Given the description of an element on the screen output the (x, y) to click on. 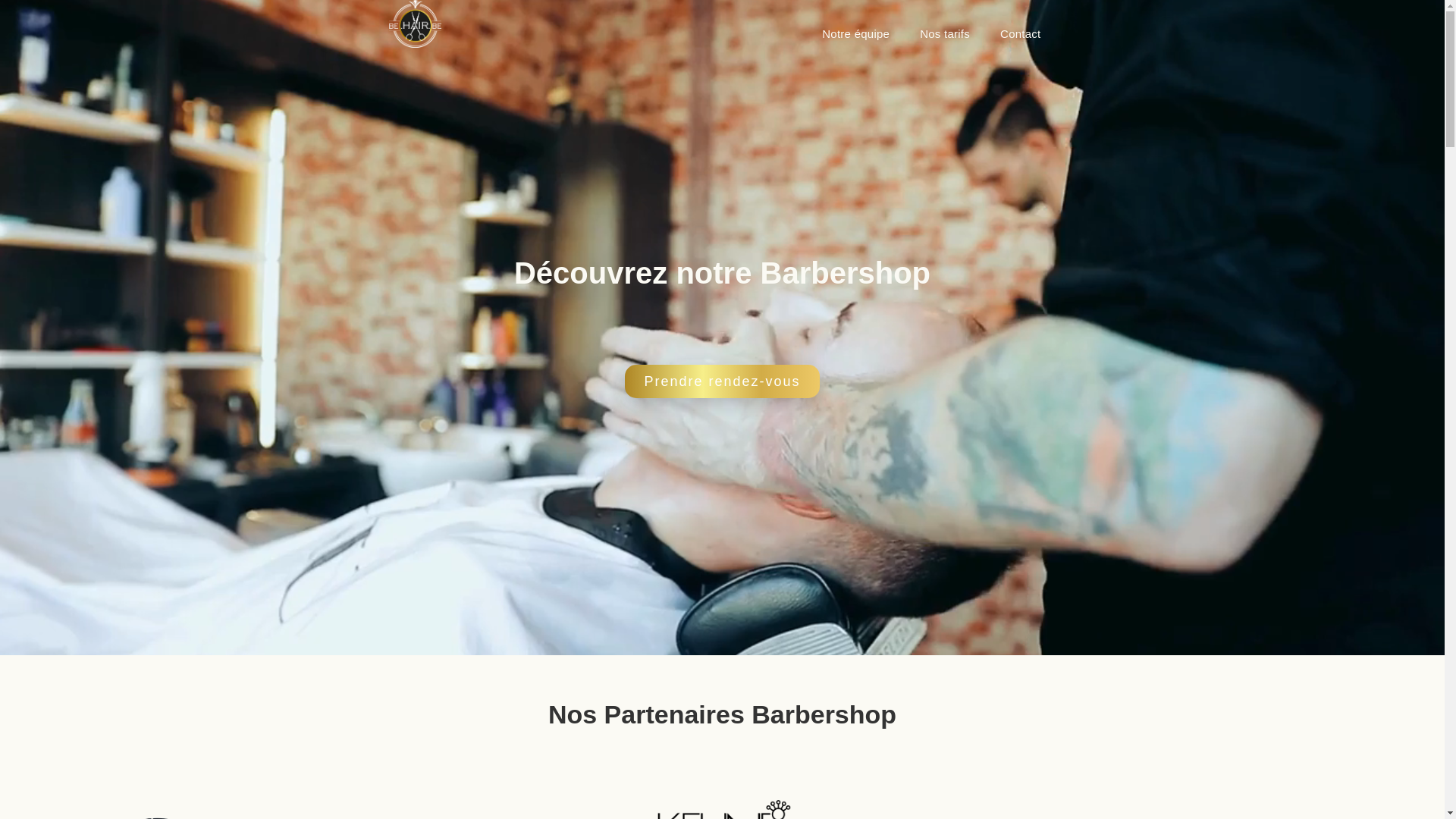
Prendre rendez-vous Element type: text (721, 381)
Nos tarifs Element type: text (944, 33)
Contact Element type: text (1020, 33)
